Given the description of an element on the screen output the (x, y) to click on. 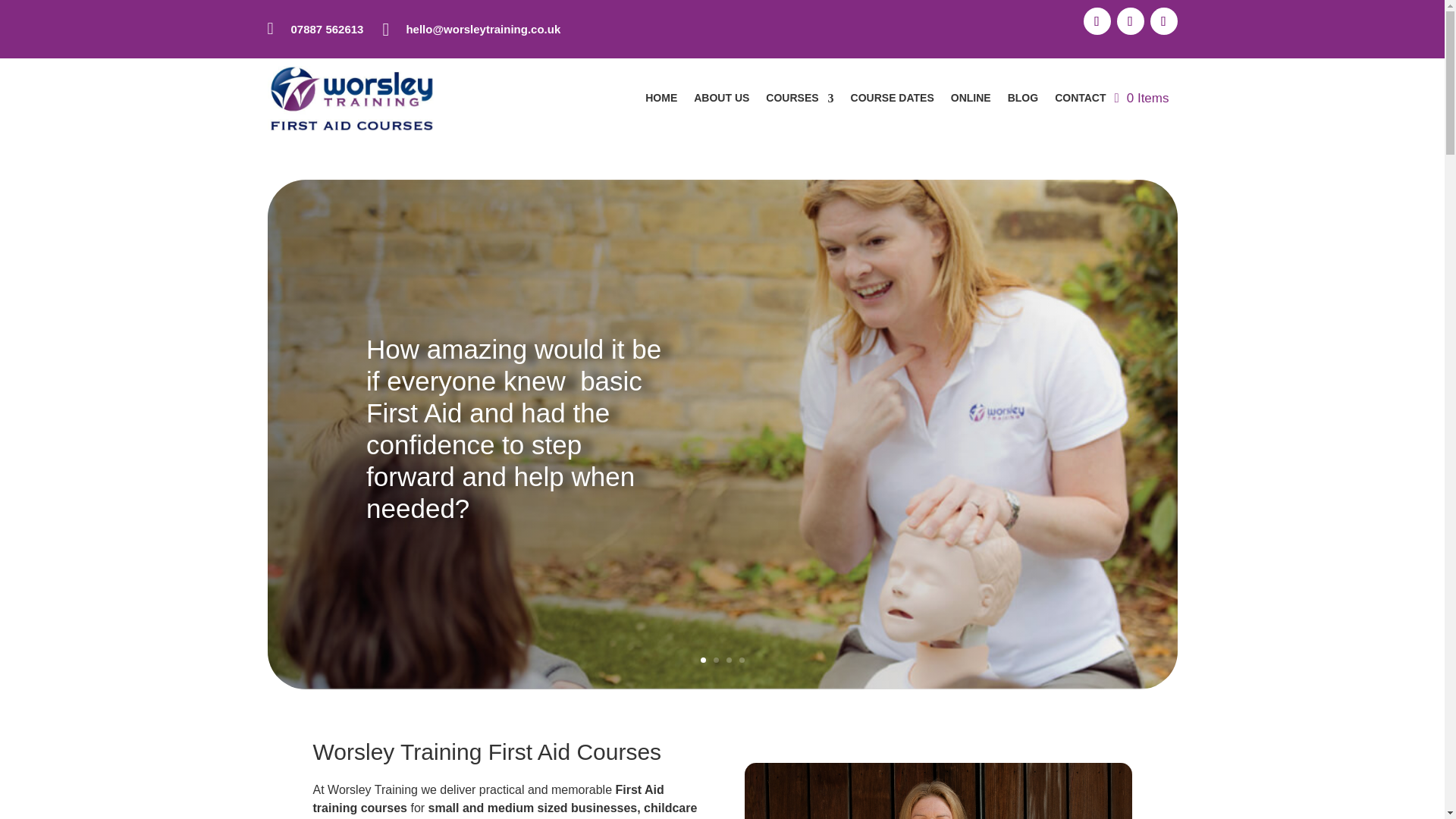
RMP paed (937, 790)
Follow on Facebook (1096, 21)
Follow on Instagram (1163, 21)
COURSE DATES (892, 98)
COURSES (798, 98)
Follow on LinkedIn (1129, 21)
